Given the description of an element on the screen output the (x, y) to click on. 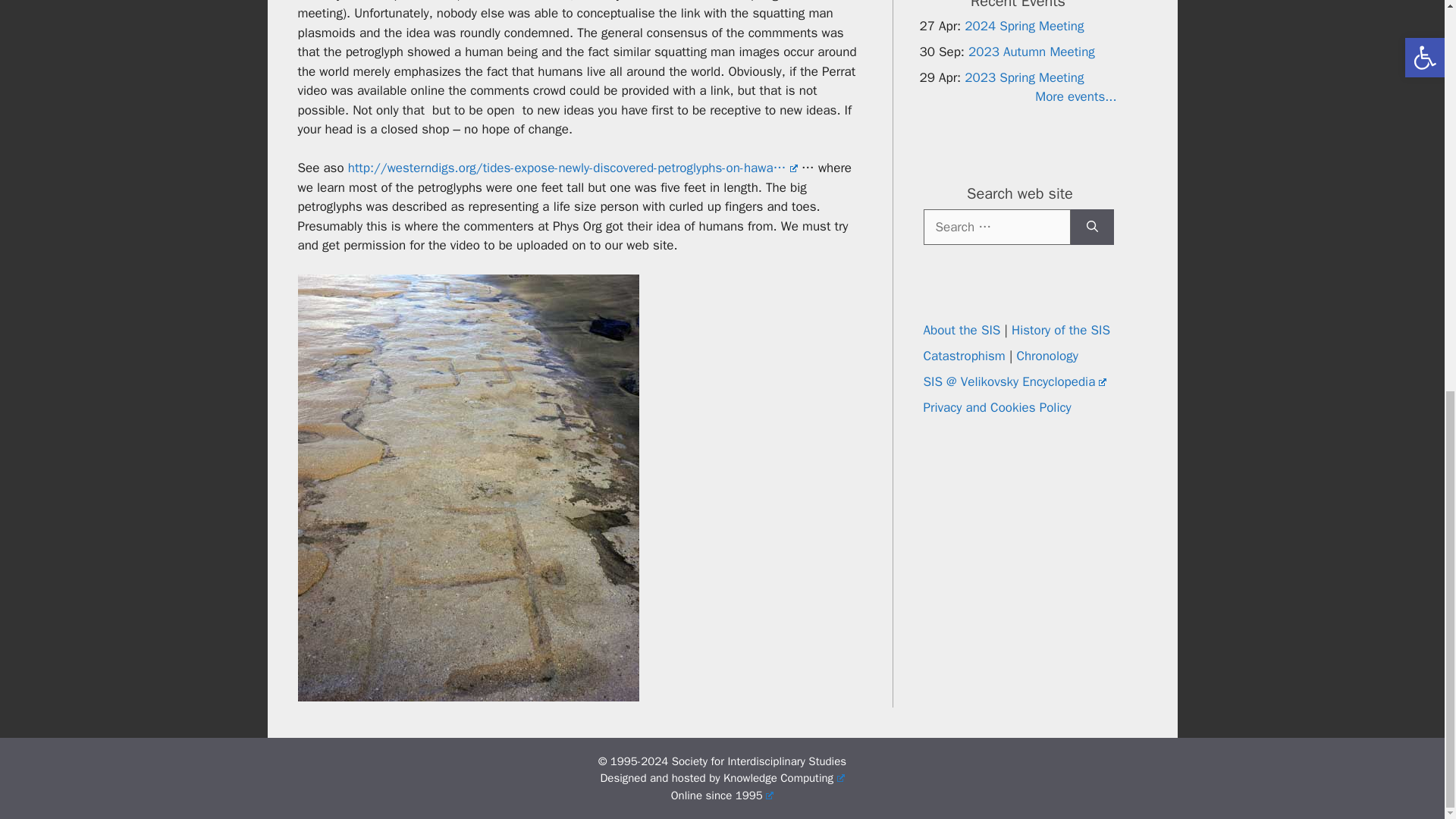
Search for: (996, 226)
